Given the description of an element on the screen output the (x, y) to click on. 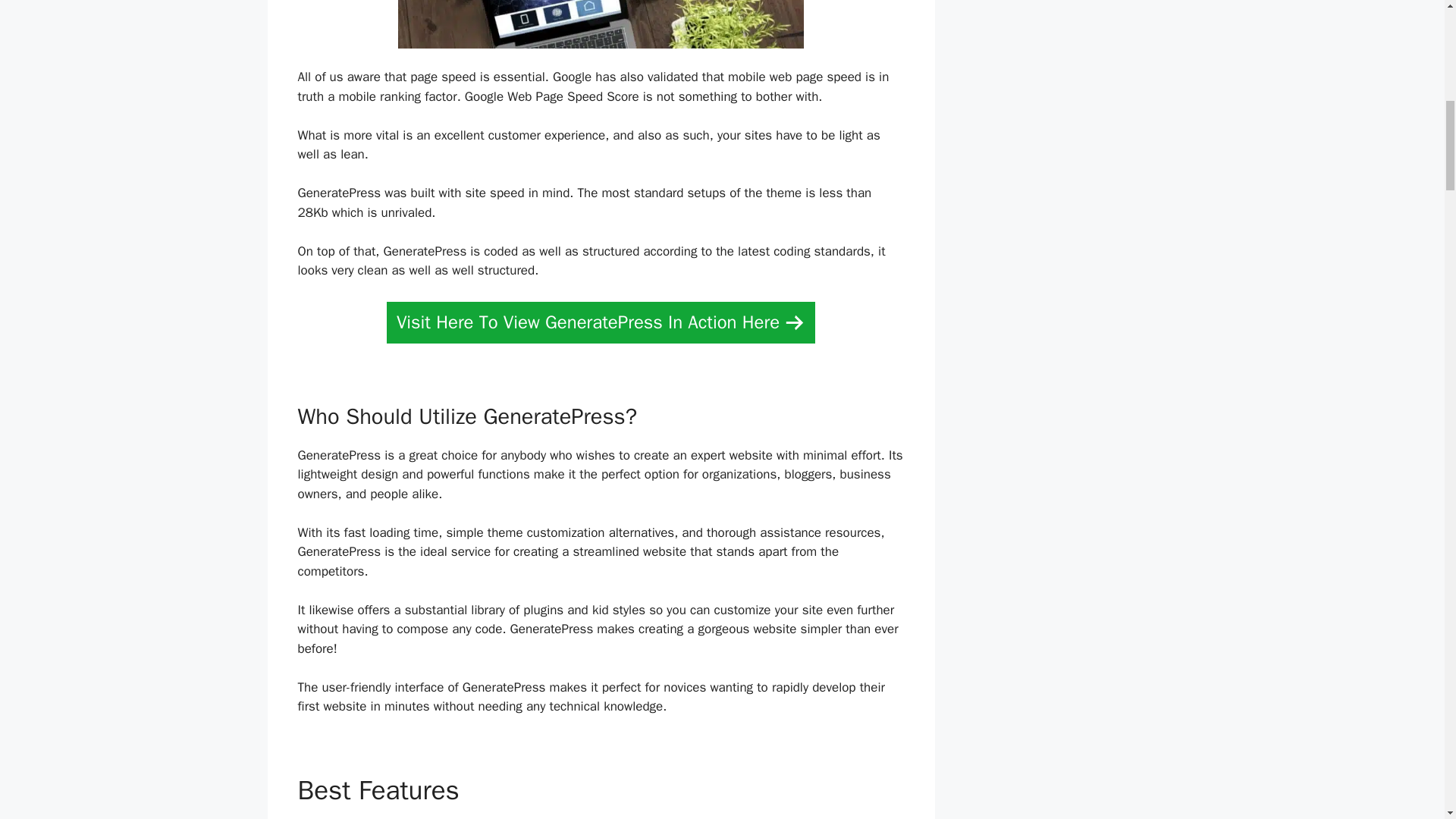
Visit Here To View GeneratePress In Action Here (601, 322)
